Given the description of an element on the screen output the (x, y) to click on. 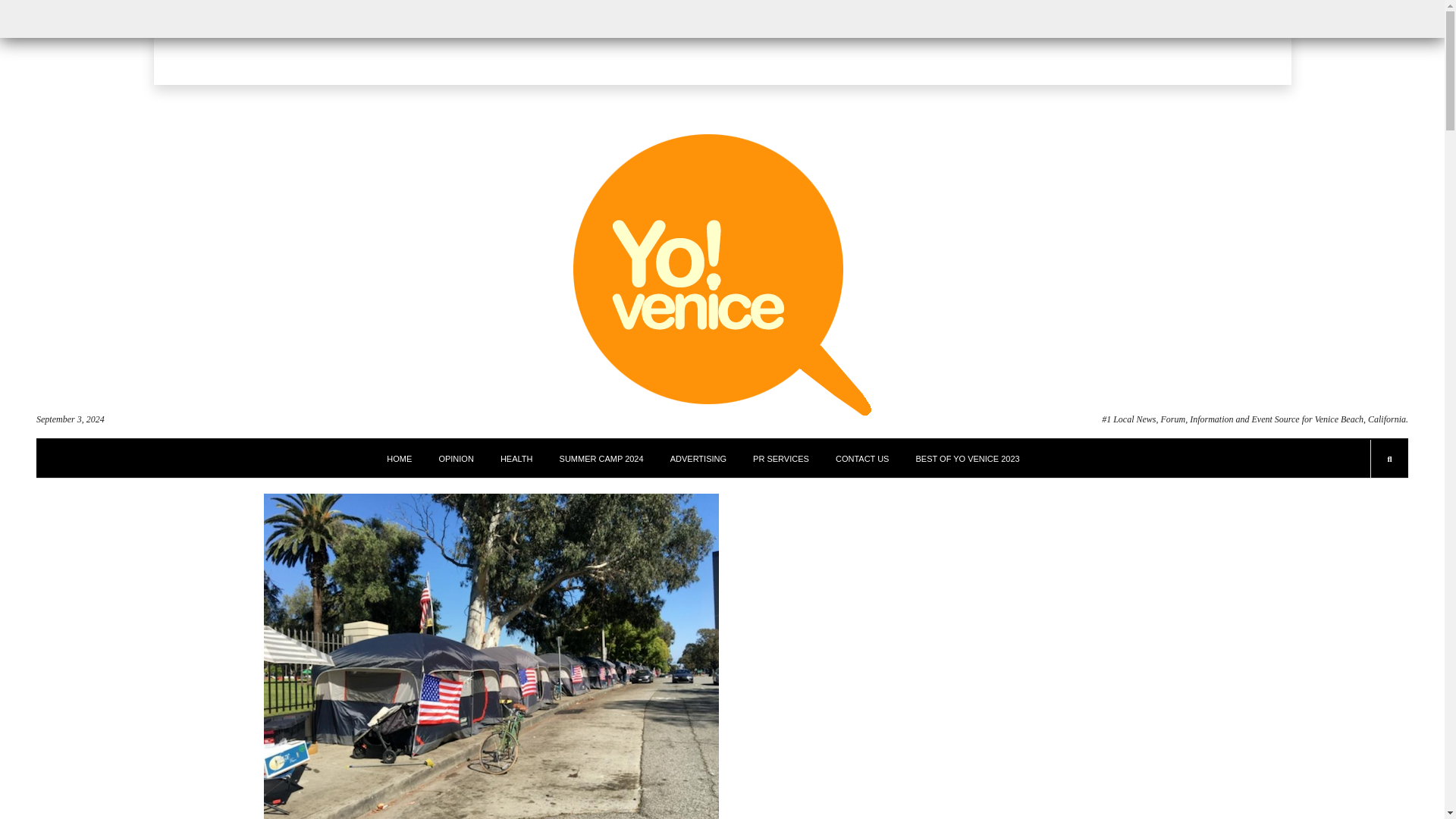
BEST OF YO VENICE 2023 (967, 458)
ADVERTISING (697, 458)
PR SERVICES (780, 458)
SUMMER CAMP 2024 (601, 458)
OPINION (455, 458)
CONTACT US (862, 458)
